Given the description of an element on the screen output the (x, y) to click on. 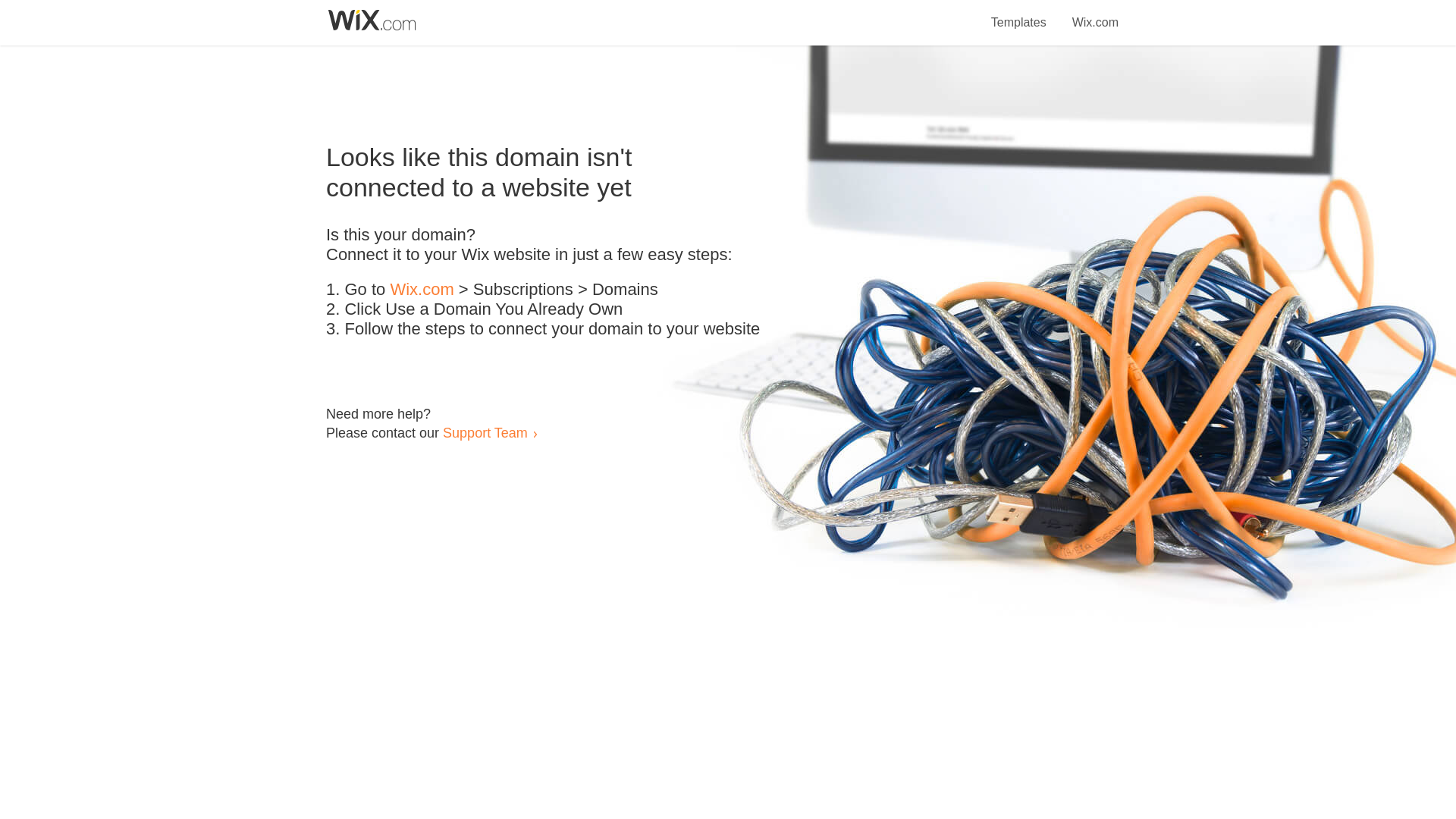
Wix.com (1095, 14)
Wix.com (421, 289)
Templates (1018, 14)
Support Team (484, 432)
